Given the description of an element on the screen output the (x, y) to click on. 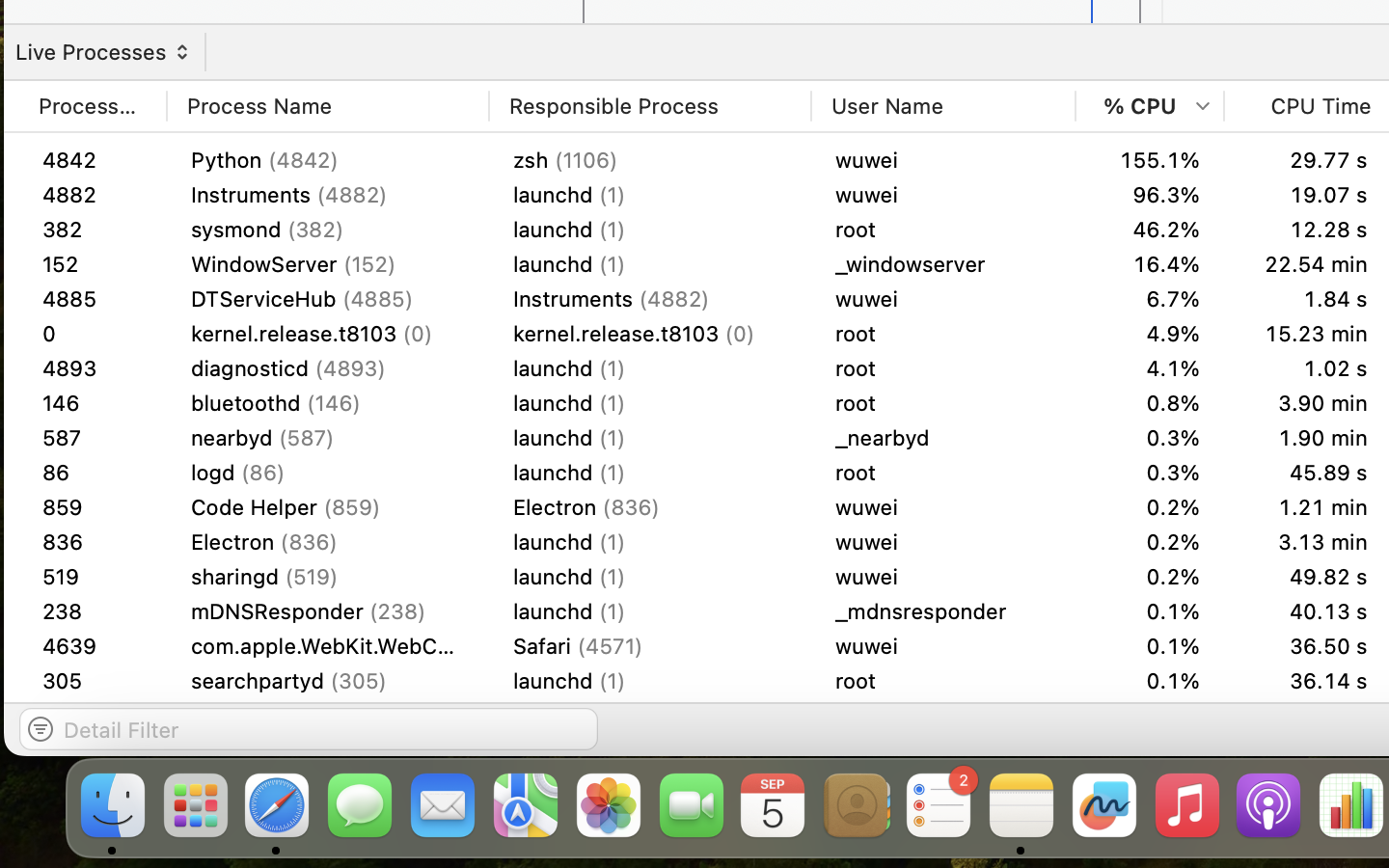
0.4% Element type: AXStaticText (1149, 541)
kernel.release.t8103 (0) Element type: AXStaticText (327, 333)
0.1% Element type: AXStaticText (1149, 645)
1.45 s Element type: AXStaticText (1307, 333)
Google Chrome (3224) Element type: AXStaticText (327, 576)
